Given the description of an element on the screen output the (x, y) to click on. 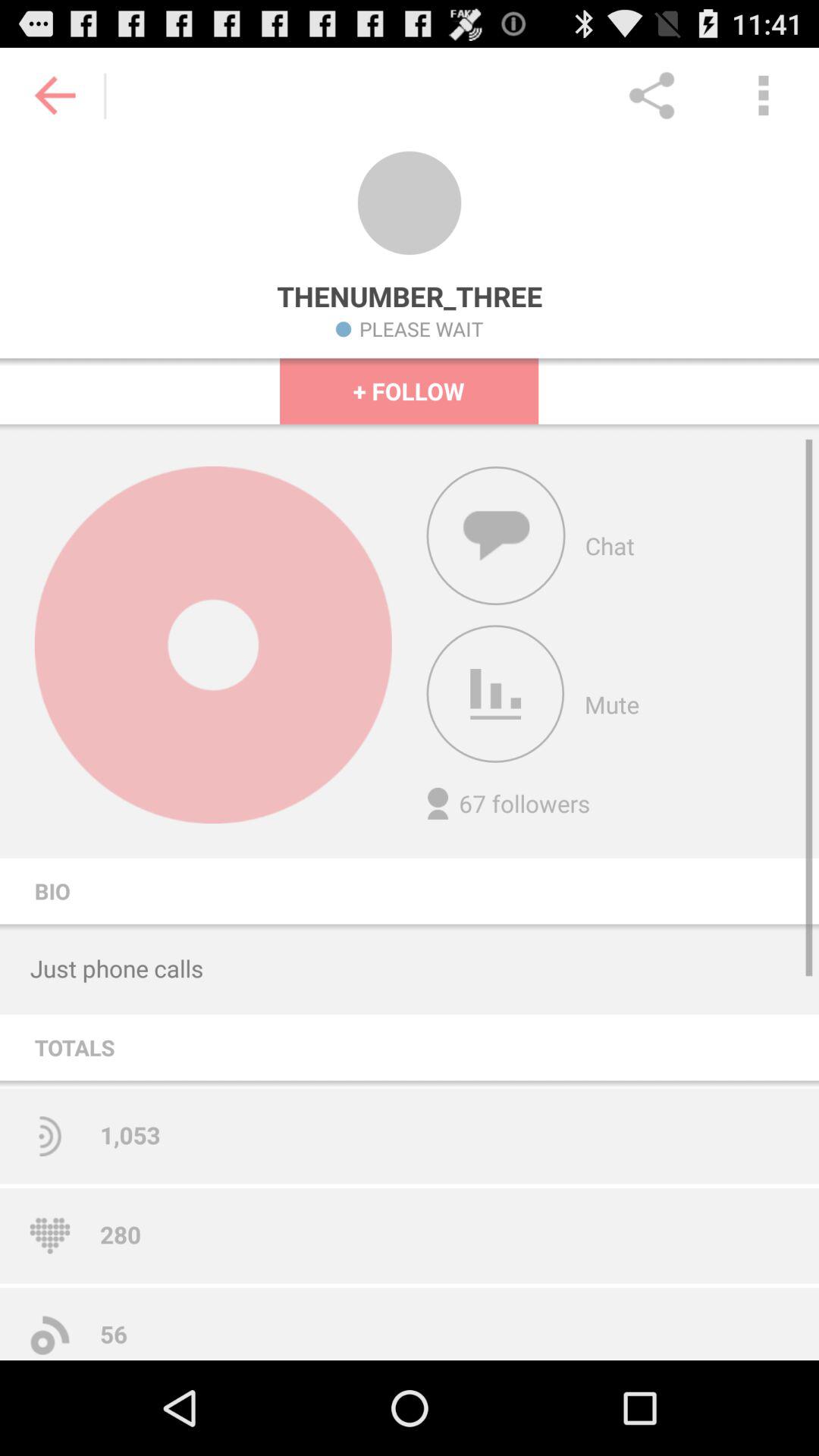
open chat dialogue (495, 535)
